Given the description of an element on the screen output the (x, y) to click on. 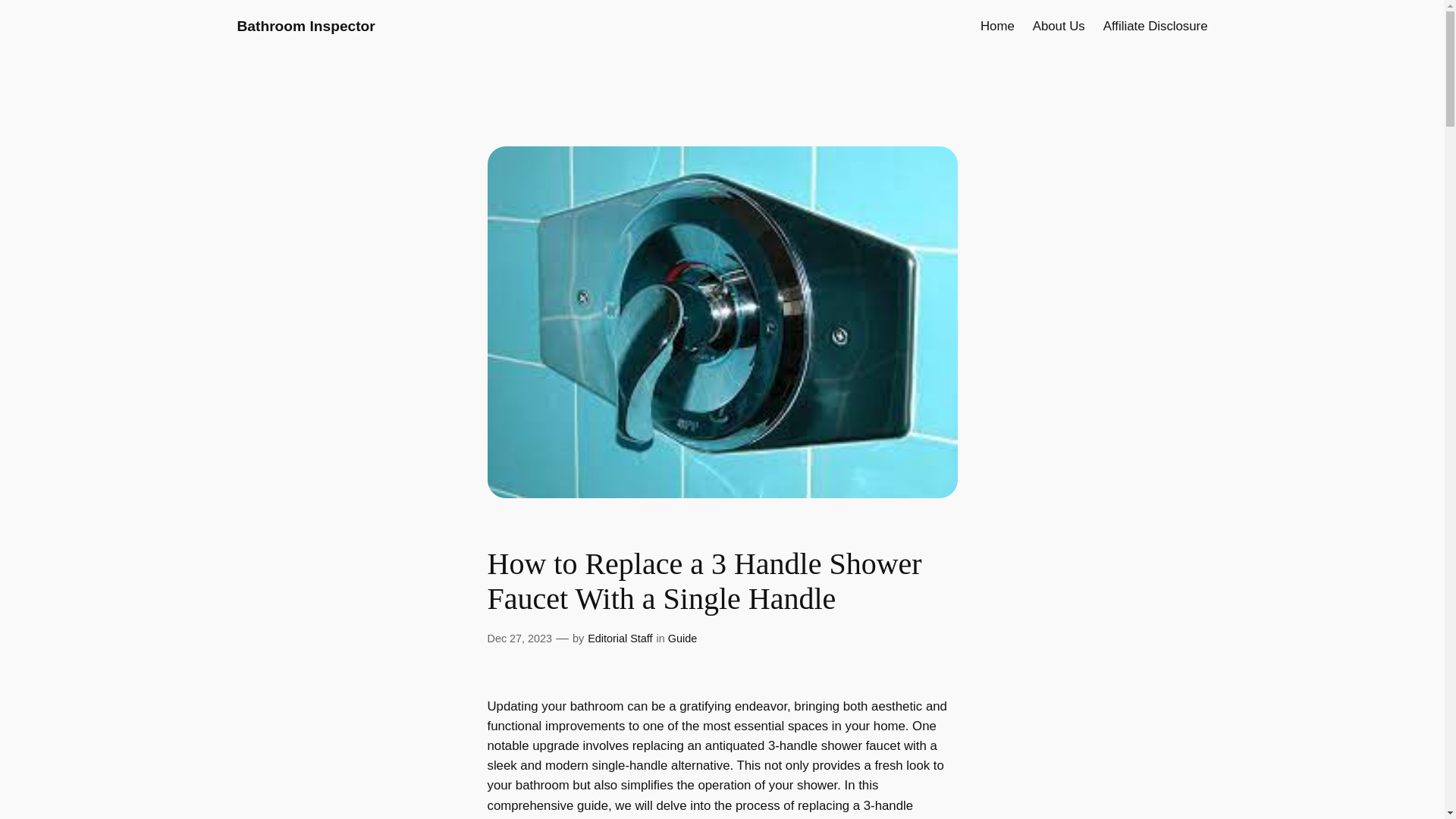
Bathroom Inspector (304, 26)
Editorial Staff (620, 638)
Affiliate Disclosure (1155, 26)
About Us (1058, 26)
Guide (682, 638)
Dec 27, 2023 (518, 638)
Home (996, 26)
